Given the description of an element on the screen output the (x, y) to click on. 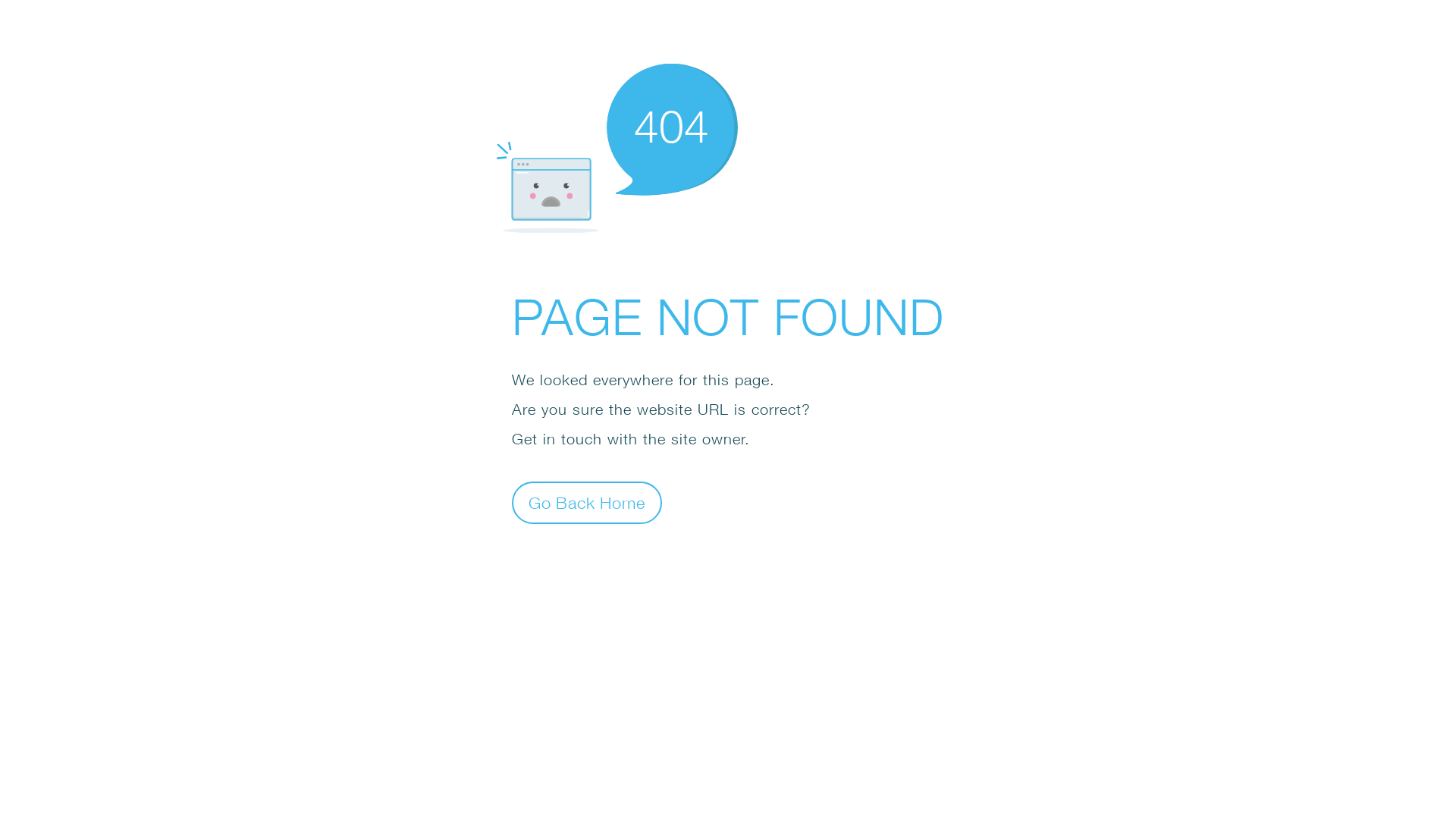
Go Back Home Element type: text (586, 502)
